Given the description of an element on the screen output the (x, y) to click on. 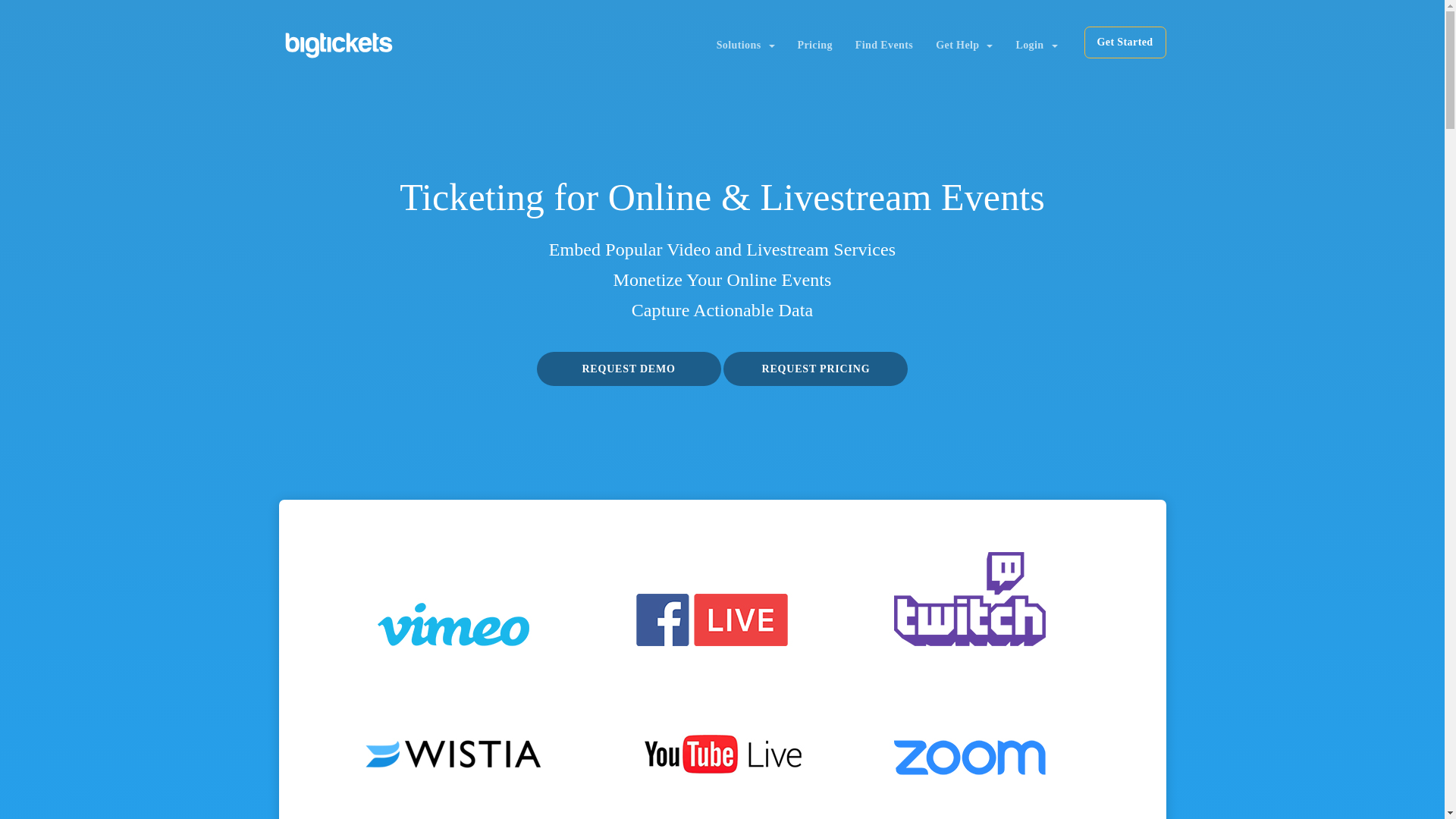
Big Tickets Event Ticketing Software (338, 45)
Pricing (814, 45)
Find Events (884, 45)
Get Help (964, 45)
Login (1036, 45)
Get Started (1125, 42)
Solutions (745, 45)
